Given the description of an element on the screen output the (x, y) to click on. 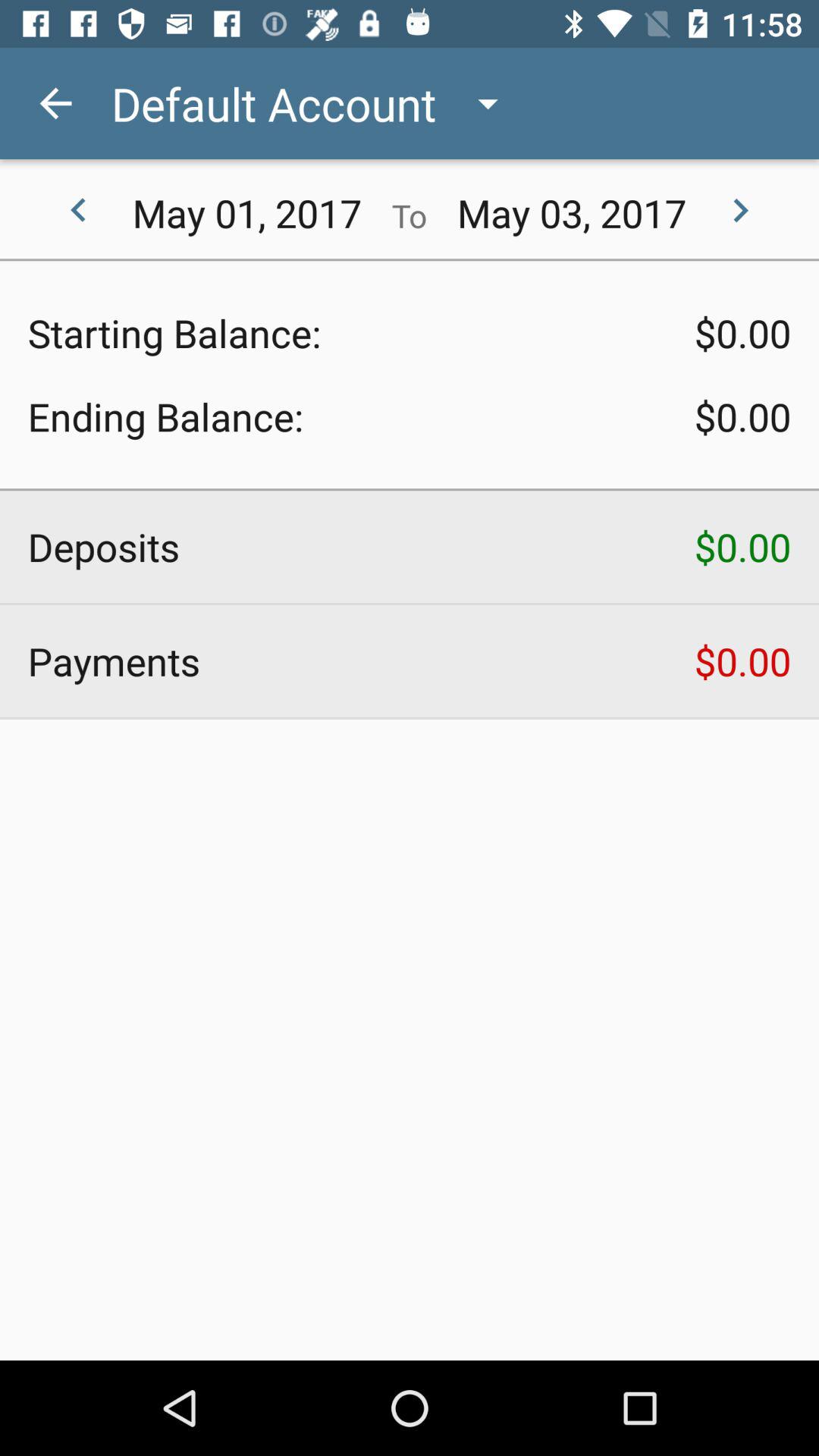
launch item next to may 01, 2017 (78, 210)
